Given the description of an element on the screen output the (x, y) to click on. 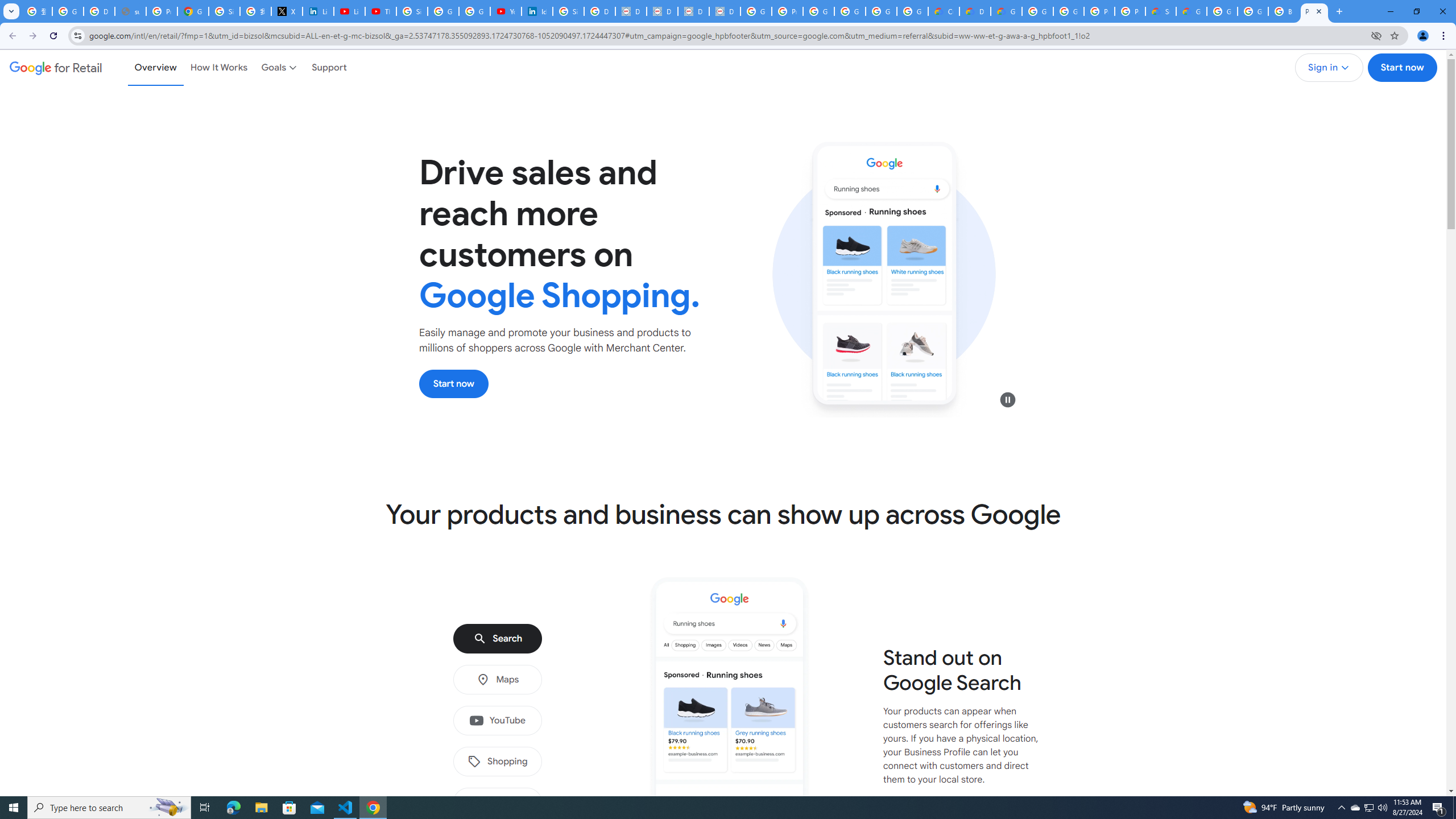
Customer Care | Google Cloud (943, 11)
Google for Retail (55, 67)
support.google.com - Network error (130, 11)
Maps (496, 680)
Goals (279, 67)
Privacy Help Center - Policies Help (161, 11)
Support Hub | Google Cloud (1160, 11)
